Given the description of an element on the screen output the (x, y) to click on. 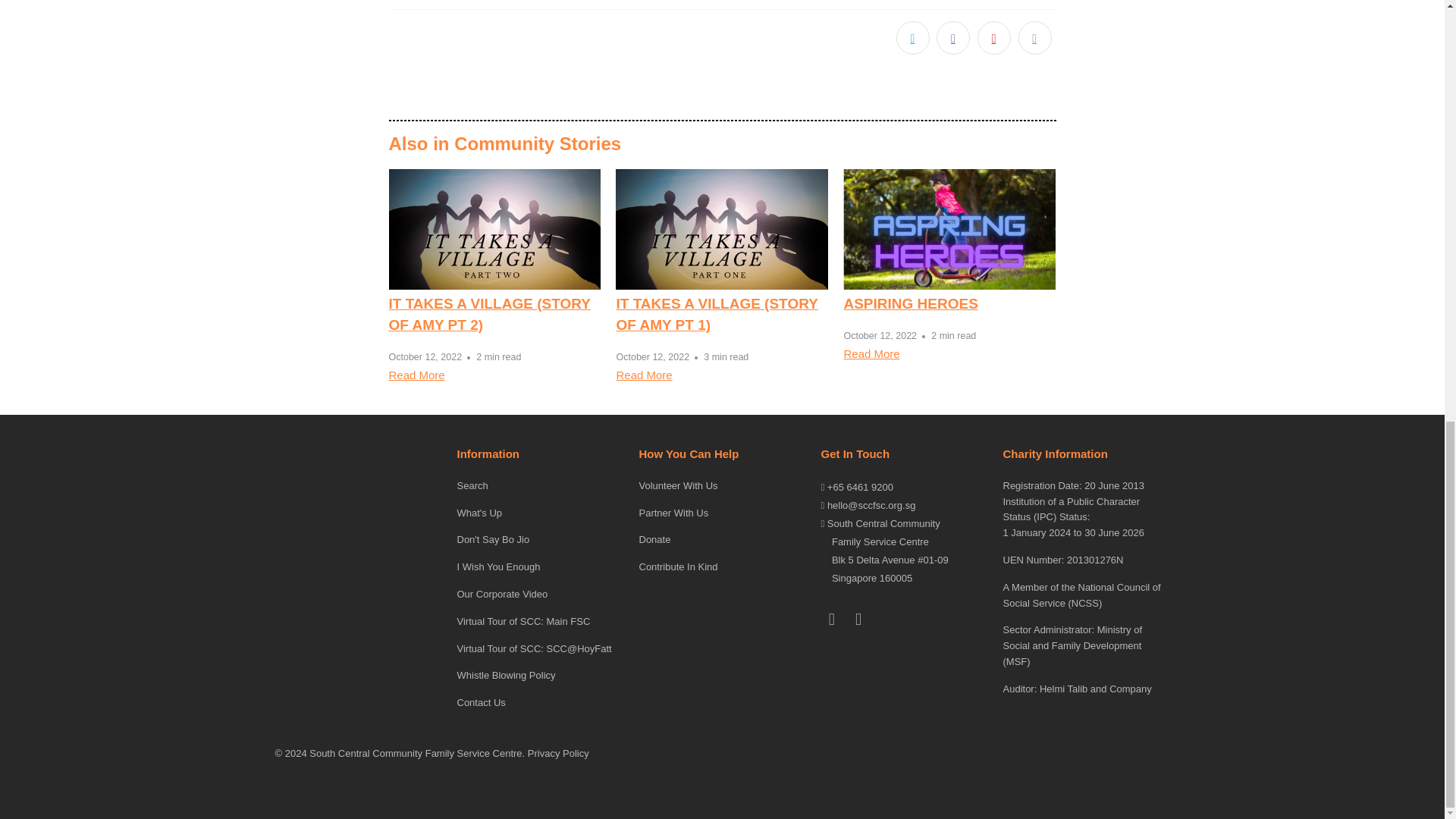
ASPIRING HEROES (949, 228)
ASPIRING HEROES (909, 303)
Share this on Pinterest (993, 37)
Email this to a friend (1034, 37)
Share this on Facebook (952, 37)
Share this on Twitter (913, 37)
